Given the description of an element on the screen output the (x, y) to click on. 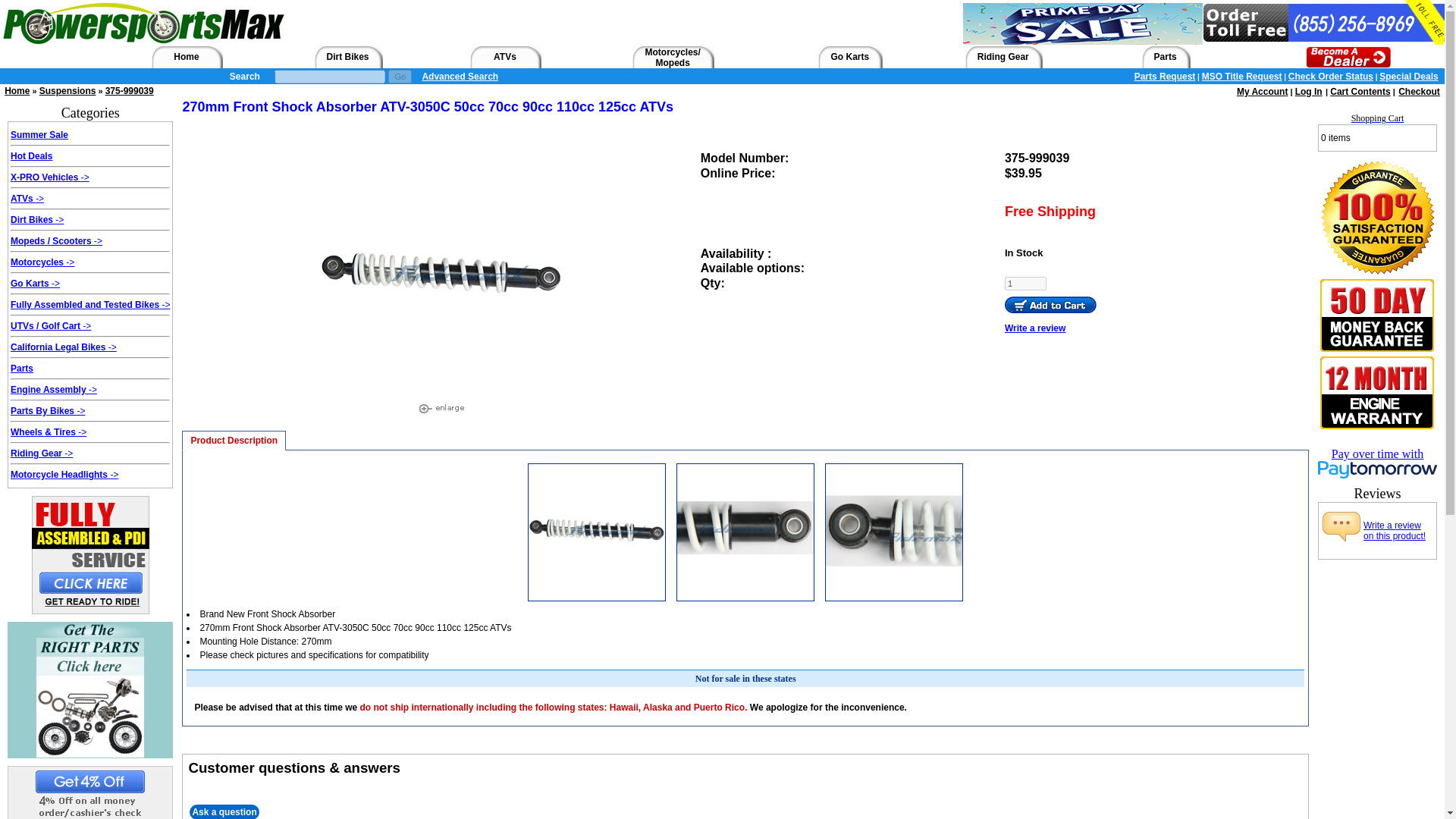
YAMAHA PW50 Chain Protect Cover (893, 532)
Summer Sale (39, 134)
Go (400, 76)
YAMAHA PW50 Chain Protect Cover (596, 532)
My Account (1262, 91)
ATVs (22, 198)
ATVs (504, 56)
 Add to Cart  (1050, 304)
Go Karts (849, 56)
Advanced Search (459, 76)
Home (185, 56)
Dirt Bikes (347, 56)
Advanced Search (459, 76)
 Write Review  (1340, 530)
